Given the description of an element on the screen output the (x, y) to click on. 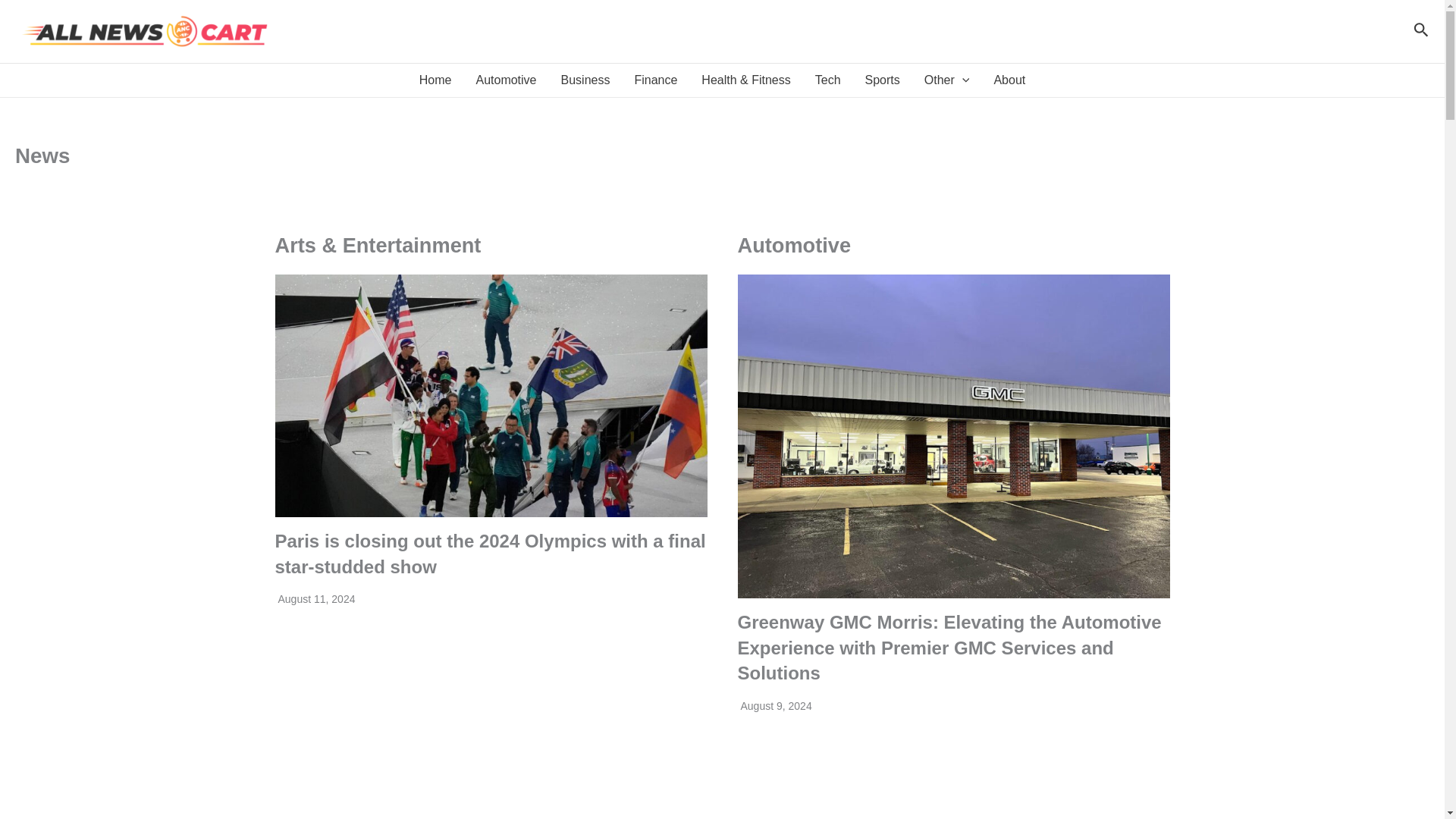
News 2 (490, 395)
Business (585, 80)
Automotive (505, 80)
About (1008, 80)
Sports (882, 80)
Home (435, 80)
Tech (828, 80)
Finance (654, 80)
Other (946, 80)
